Given the description of an element on the screen output the (x, y) to click on. 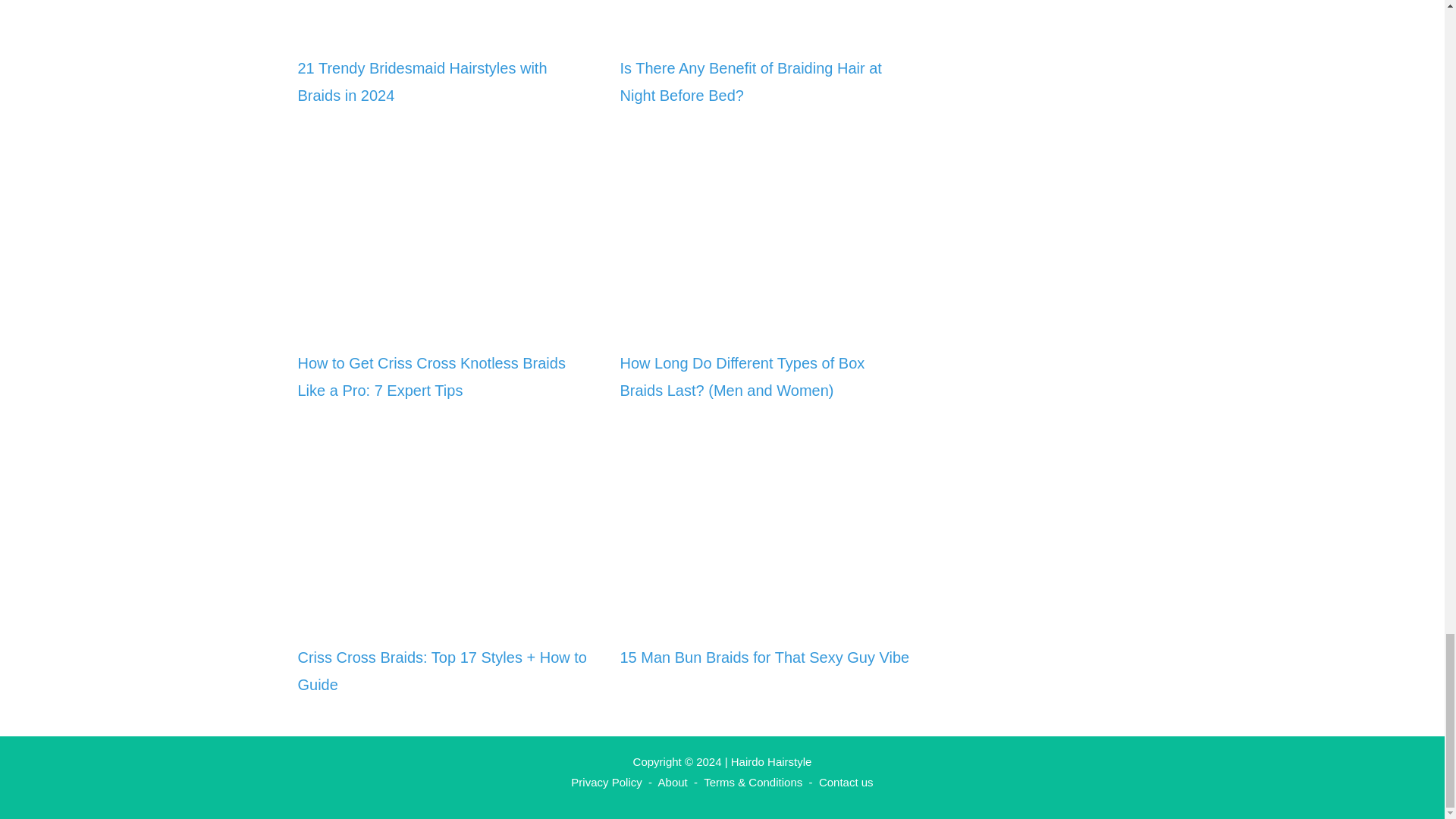
15 Man Bun Braids for That Sexy Guy Vibe (766, 614)
21 Trendy Bridesmaid Hairstyles with Braids in 2024 (422, 81)
Is There Any Benefit of Braiding Hair at Night Before Bed? (751, 81)
15 Man Bun Braids for That Sexy Guy Vibe (765, 657)
Privacy Policy (606, 781)
21 Trendy Bridesmaid Hairstyles with Braids in 2024 (443, 25)
Is There Any Benefit of Braiding Hair at Night Before Bed? (766, 25)
About (672, 781)
